Given the description of an element on the screen output the (x, y) to click on. 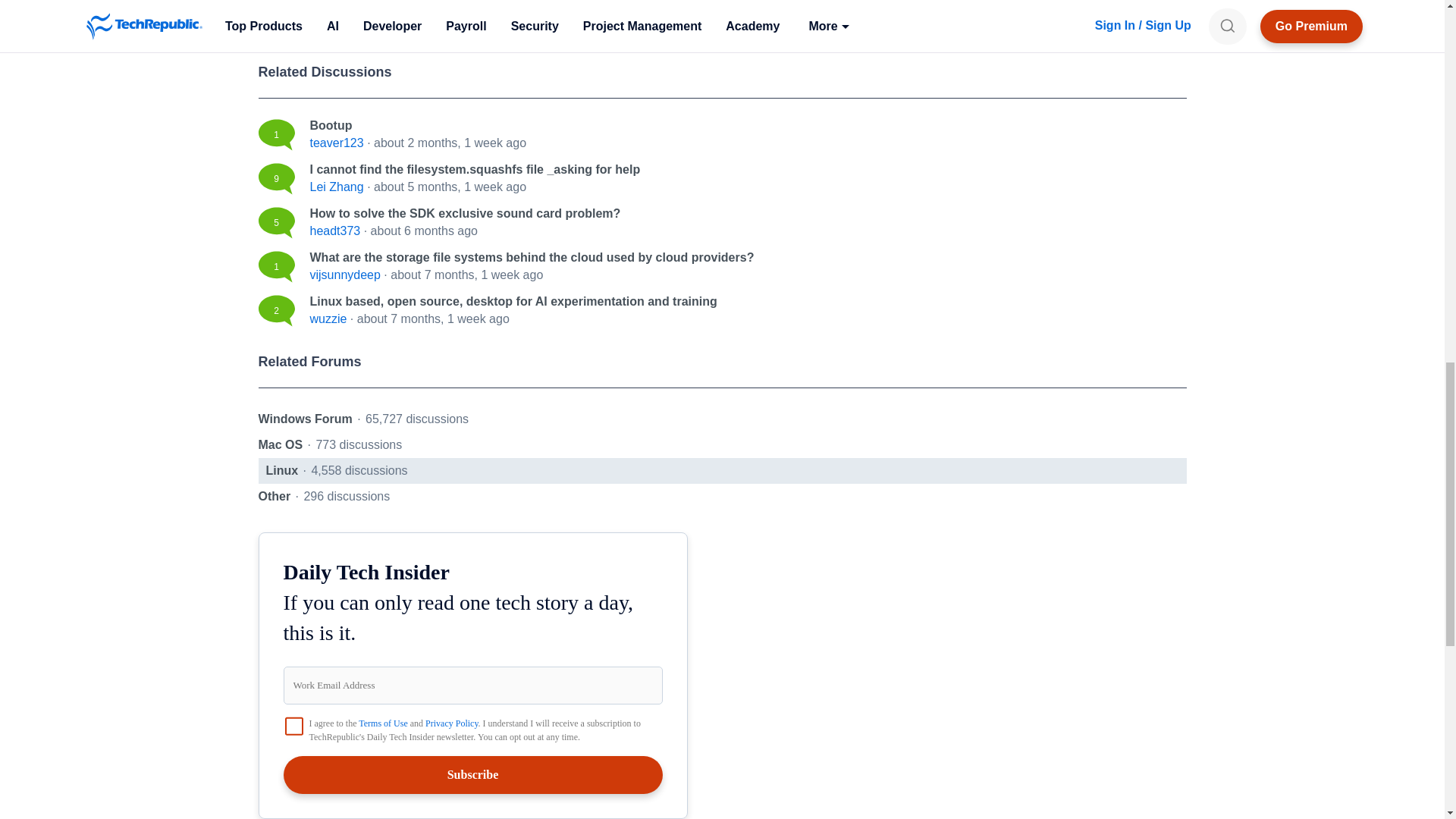
on (293, 726)
View teaver123's profile (335, 142)
View Lei Zhang's profile (335, 186)
View wuzzie's profile (327, 318)
View headt373's profile (333, 230)
View vijsunnydeep's profile (344, 274)
